Given the description of an element on the screen output the (x, y) to click on. 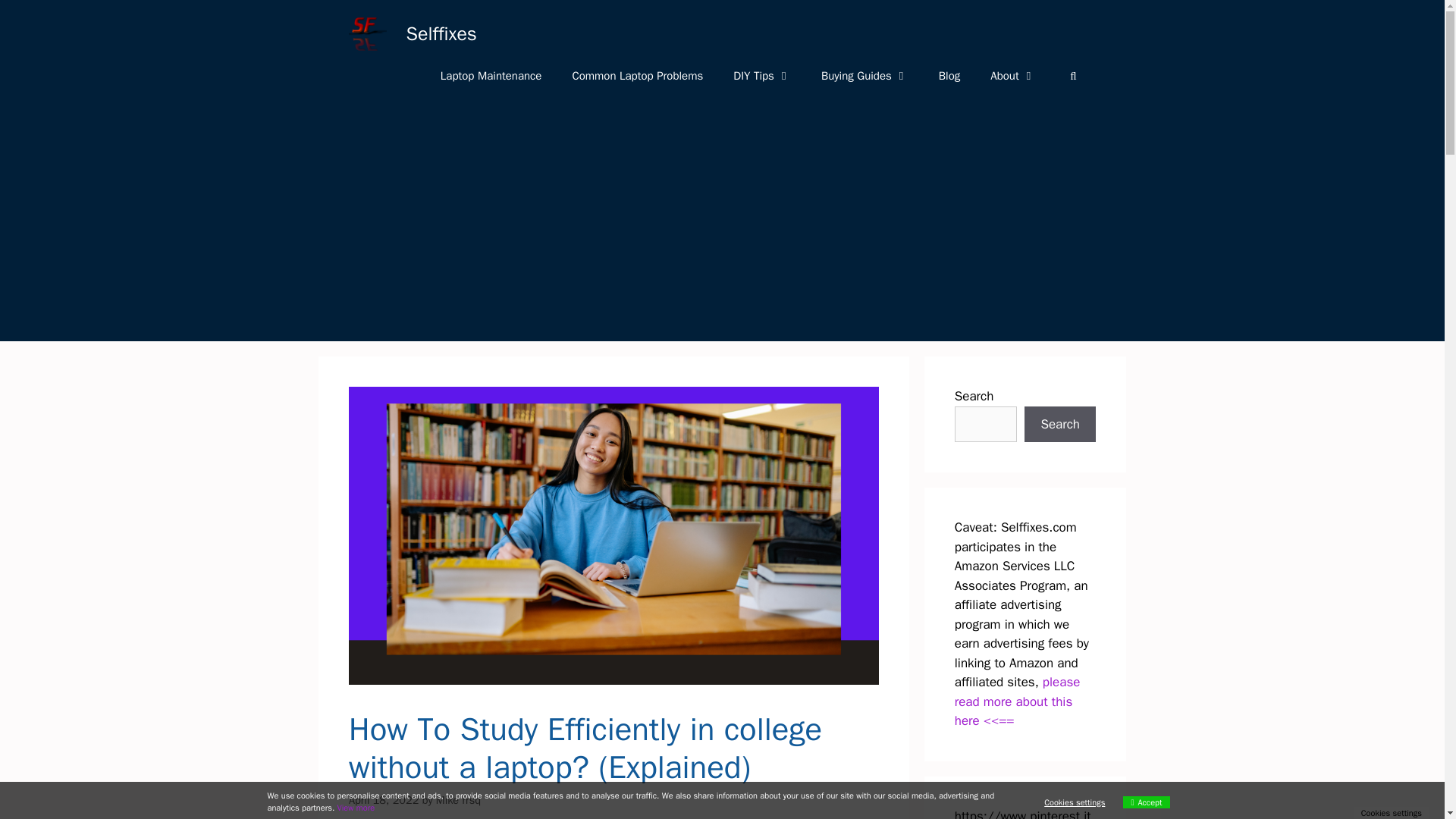
View all posts by Mike rrsq (457, 799)
DIY Tips (761, 75)
Buying Guides (864, 75)
Mike rrsq (457, 799)
About (1012, 75)
Search (1060, 424)
Laptop Maintenance (491, 75)
Common Laptop Problems (636, 75)
Blog (949, 75)
Selffixes (441, 33)
